Given the description of an element on the screen output the (x, y) to click on. 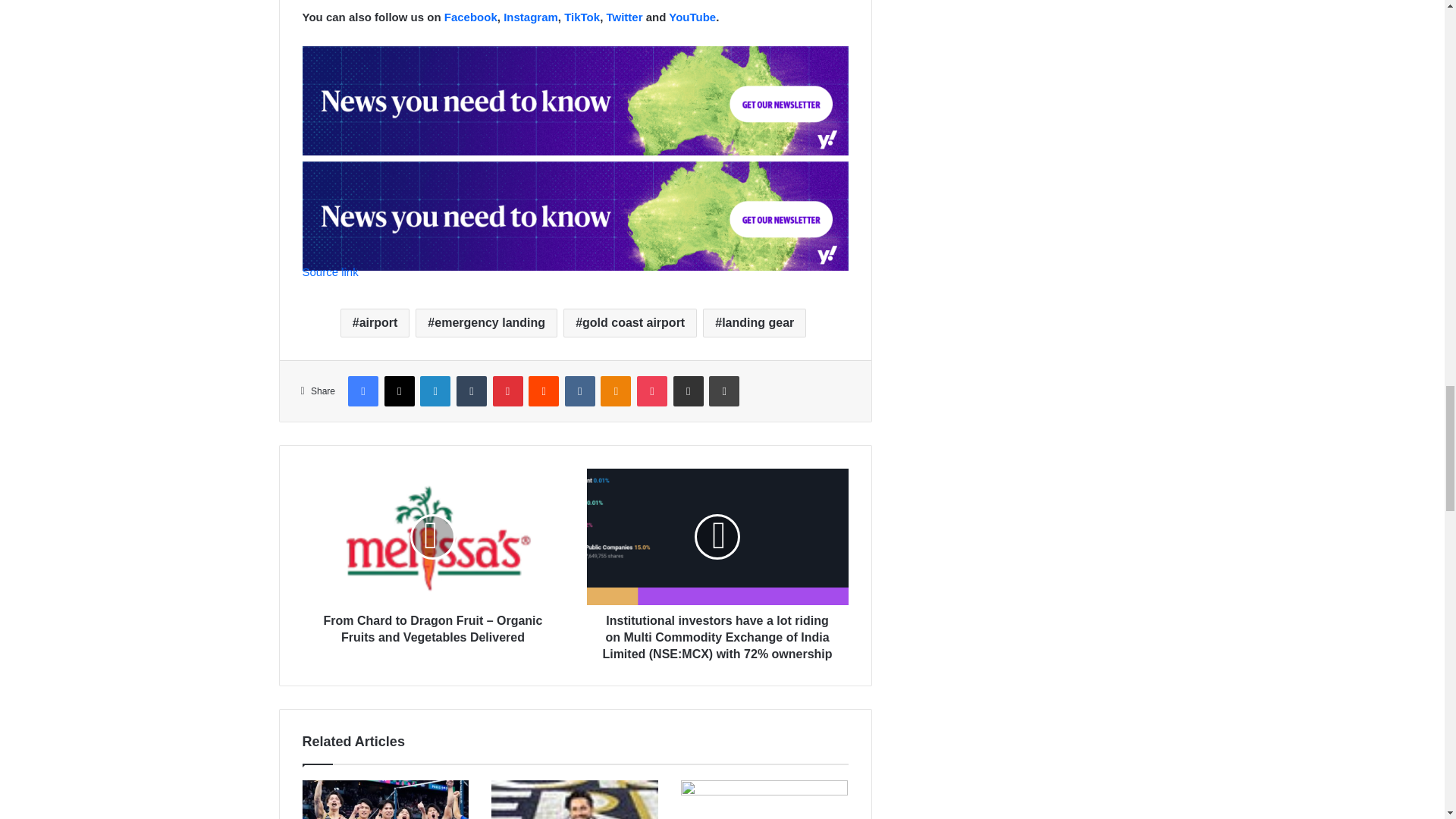
Tumblr (471, 390)
Facebook (470, 16)
TikTok (581, 16)
Source link (329, 271)
LinkedIn (434, 390)
Facebook (362, 390)
VKontakte (579, 390)
Reddit (543, 390)
X (399, 390)
airport (375, 322)
emergency landing (485, 322)
Instagram (530, 16)
Pinterest (507, 390)
Twitter (623, 16)
Odnoklassniki (614, 390)
